Given the description of an element on the screen output the (x, y) to click on. 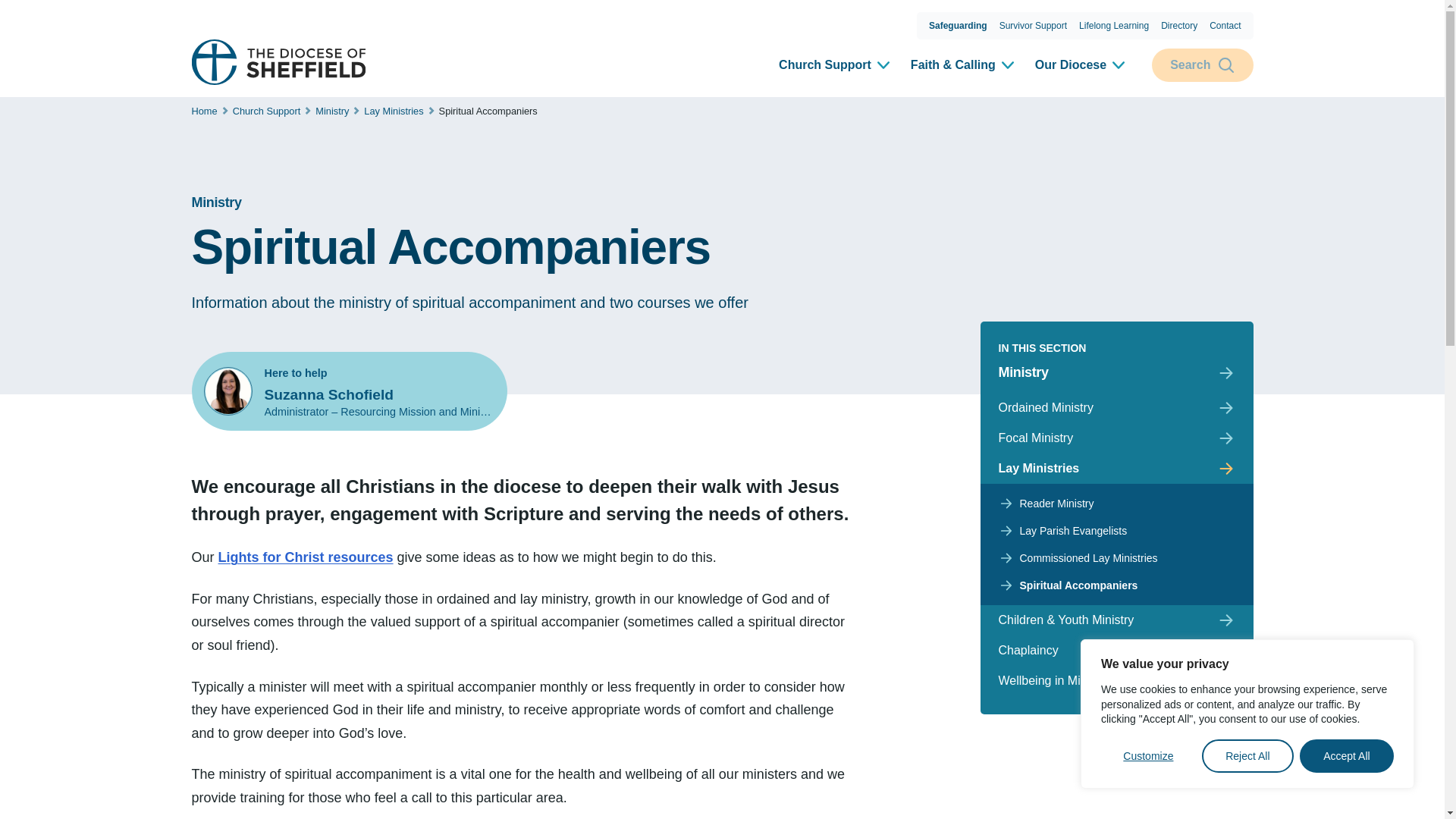
Directory (1179, 25)
Go to the top level page in this section (1115, 372)
Survivor Support (1032, 25)
Lifelong Learning (1113, 25)
Customize (1147, 756)
Go to the top level page in this section (502, 202)
Church Support (835, 64)
Reject All (1248, 756)
Accept All (1346, 756)
Safeguarding (957, 25)
Contact (1225, 25)
